Given the description of an element on the screen output the (x, y) to click on. 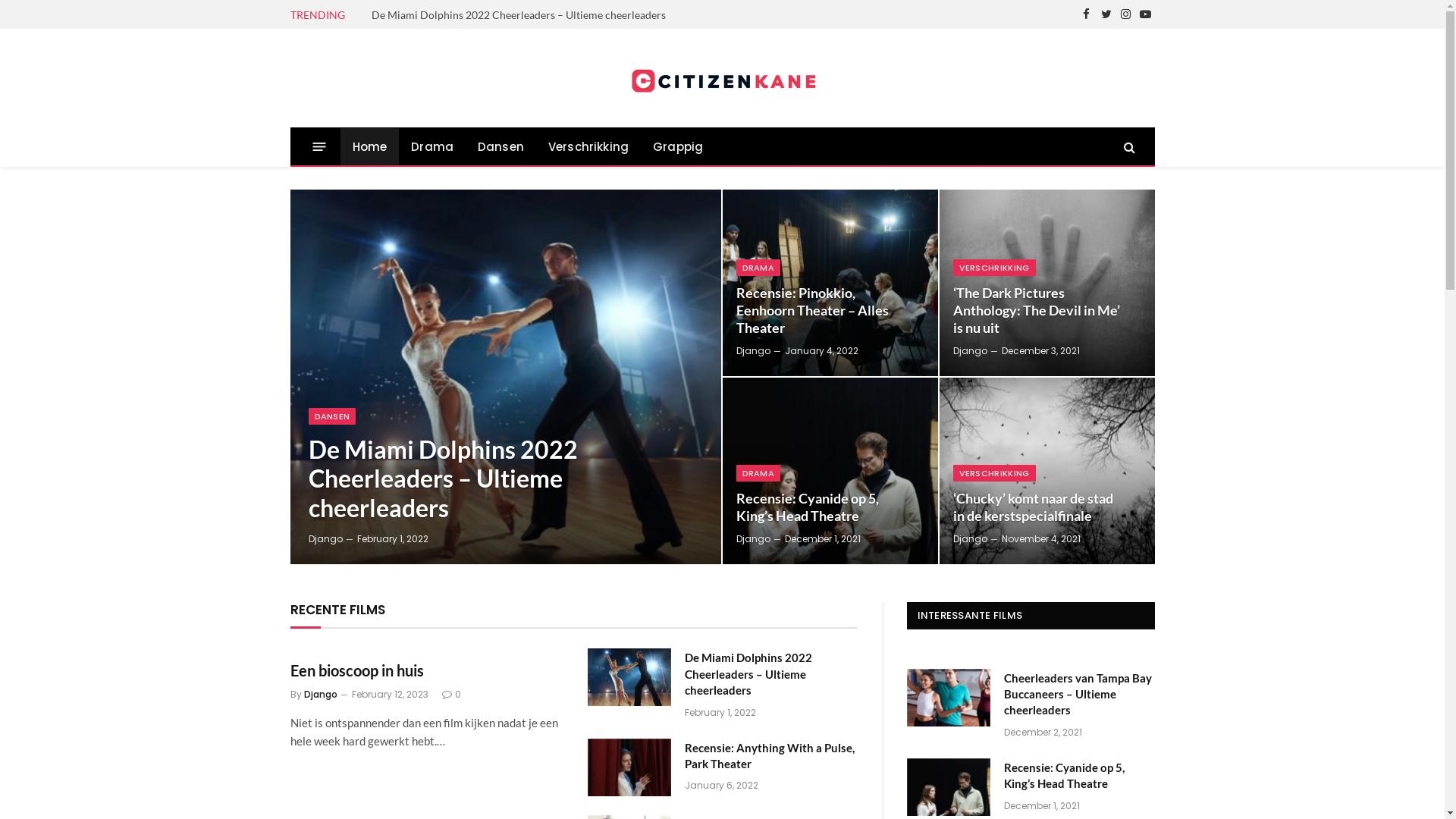
Django Element type: text (752, 350)
Facebook Element type: text (1086, 14)
Django Element type: text (969, 350)
Citizenkane.be Element type: hover (722, 78)
Recensie: Anything With a Pulse, Park Theater Element type: text (770, 756)
Django Element type: text (752, 538)
Een bioscoop in huis Element type: text (423, 14)
Grappig Element type: text (677, 146)
Instagram Element type: text (1126, 14)
Django Element type: text (319, 693)
DRAMA Element type: text (757, 267)
Recensie: Anything With a Pulse, Park Theater Element type: hover (628, 767)
Verschrikking Element type: text (588, 146)
YouTube Element type: text (1145, 14)
Twitter Element type: text (1106, 14)
DANSEN Element type: text (331, 415)
VERSCHRIKKING Element type: text (993, 472)
DRAMA Element type: text (757, 472)
Django Element type: text (324, 538)
Dansen Element type: text (500, 146)
Een bioscoop in huis Element type: text (424, 670)
Drama Element type: text (431, 146)
0 Element type: text (450, 693)
Search Element type: hover (1127, 146)
VERSCHRIKKING Element type: text (993, 267)
Django Element type: text (969, 538)
Home Element type: text (368, 146)
